Given the description of an element on the screen output the (x, y) to click on. 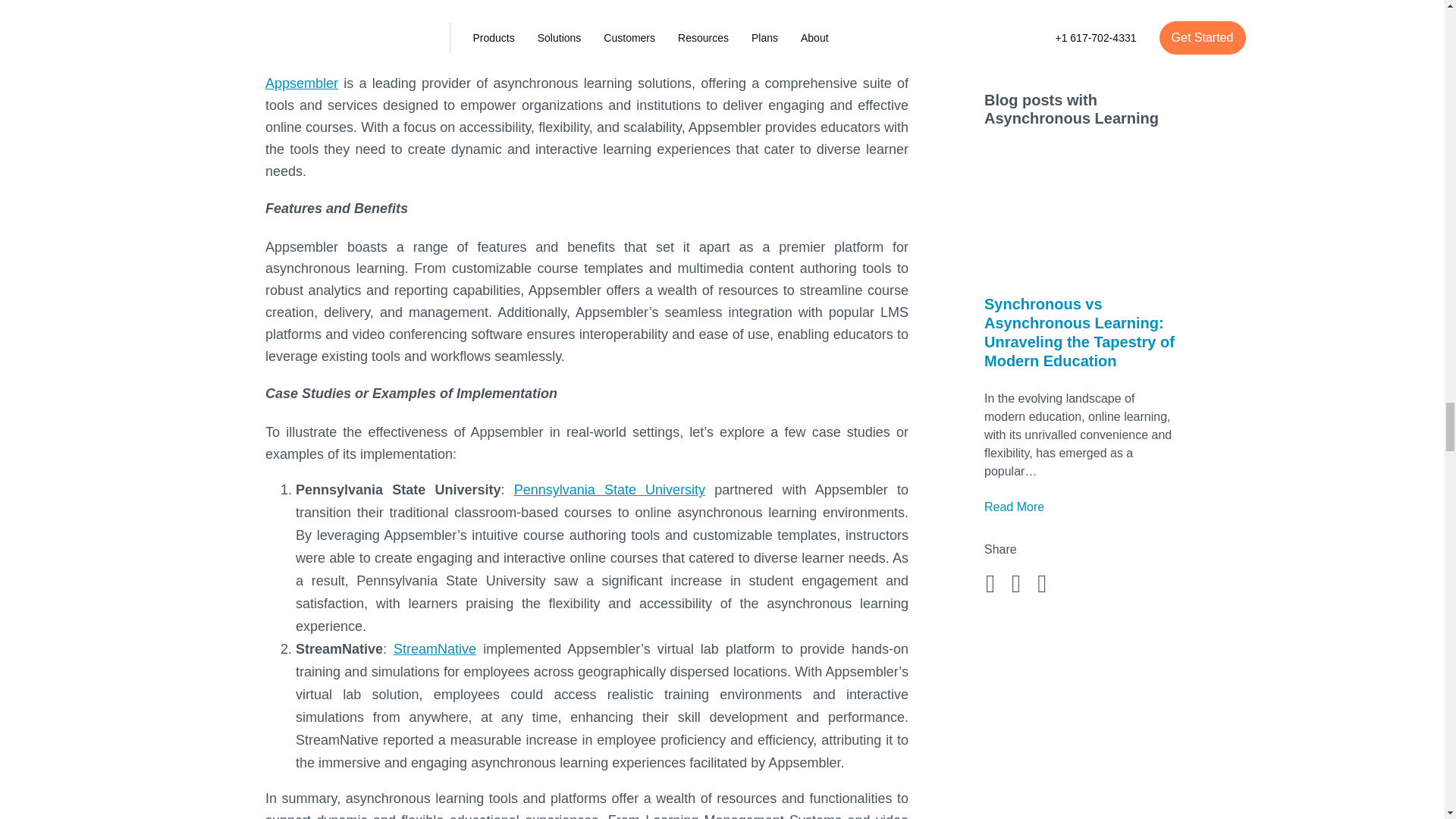
Appsembler (300, 83)
StreamNative (434, 648)
Pennsylvania State University (608, 489)
